Given the description of an element on the screen output the (x, y) to click on. 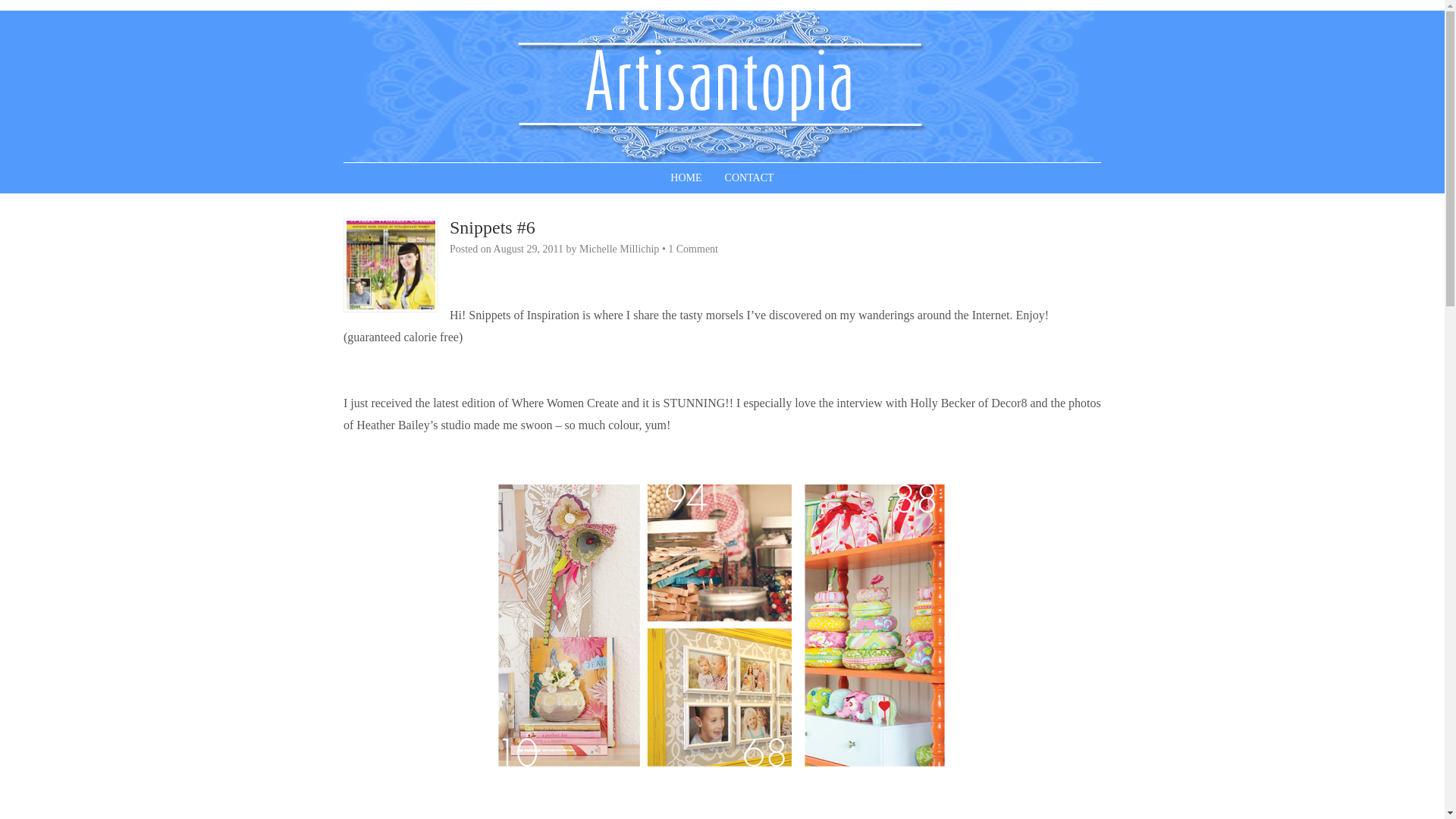
Michelle Millichip (619, 248)
HOME (686, 177)
1 Comment (692, 248)
View all posts by Michelle Millichip (619, 248)
CONTACT (749, 177)
WWCContents0811 (722, 625)
